Given the description of an element on the screen output the (x, y) to click on. 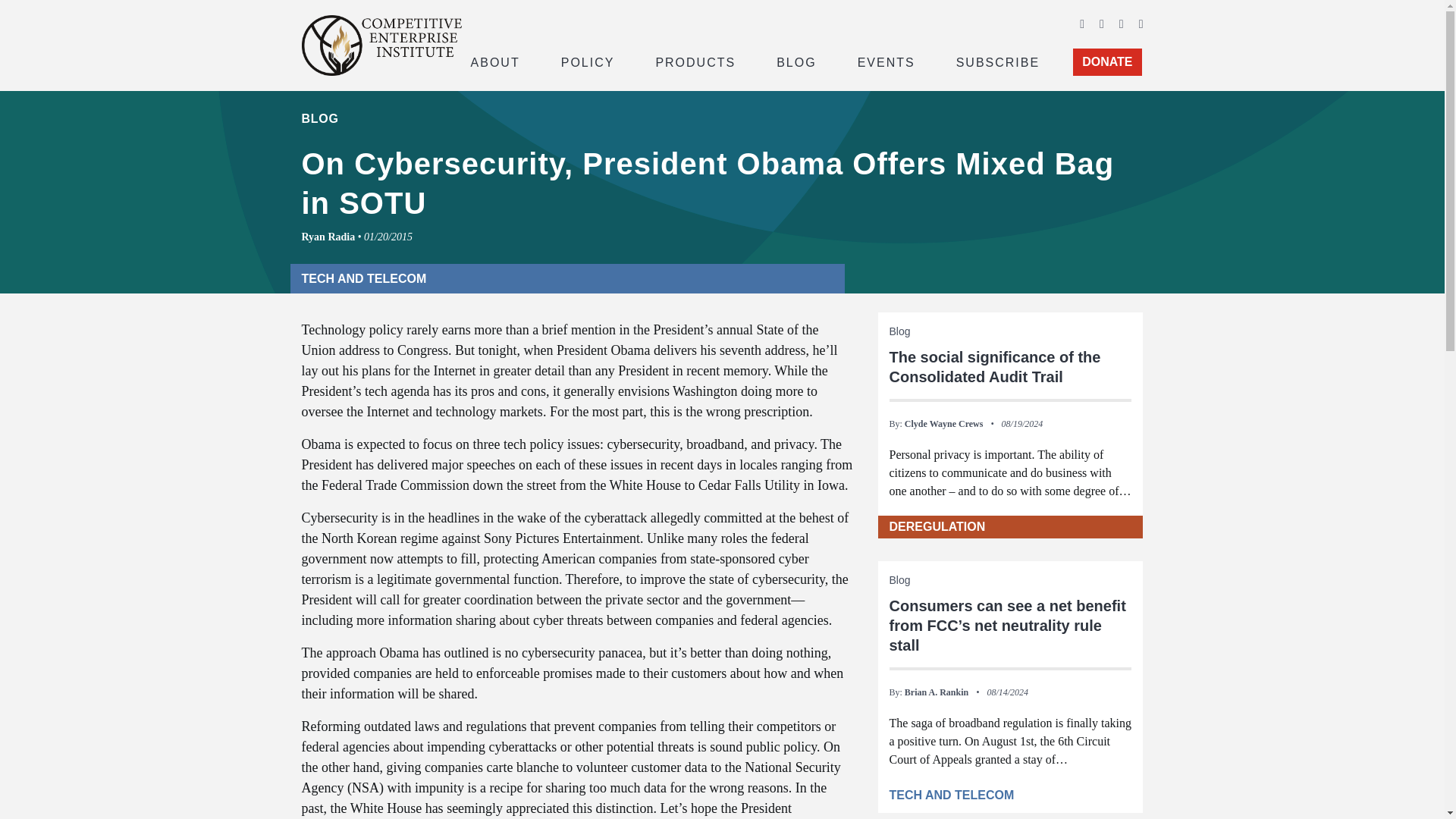
POLICY (588, 61)
ABOUT (495, 61)
DONATE (1107, 62)
BLOG (796, 61)
EVENTS (886, 61)
PRODUCTS (694, 61)
SUBSCRIBE (997, 61)
